Given the description of an element on the screen output the (x, y) to click on. 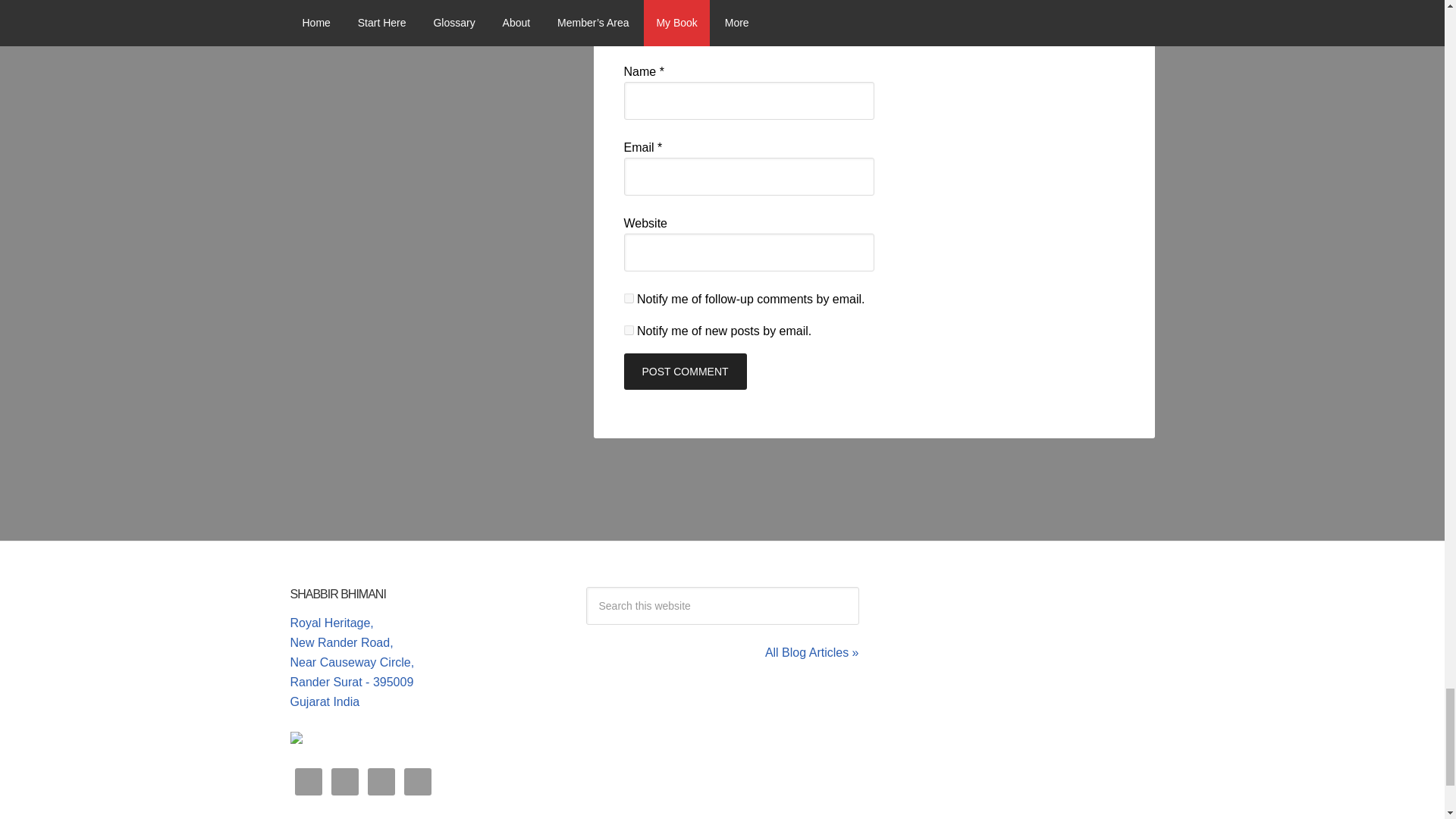
subscribe (628, 329)
subscribe (628, 298)
Post Comment (684, 370)
